Given the description of an element on the screen output the (x, y) to click on. 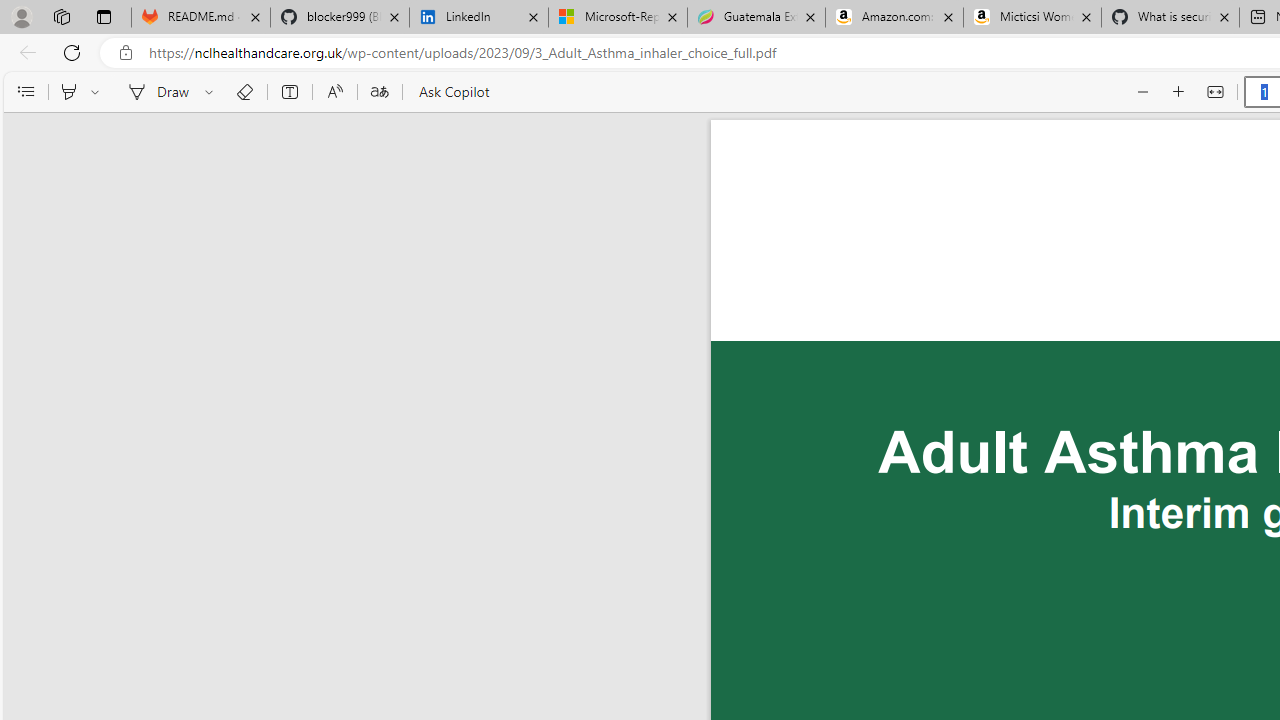
Select ink properties (212, 92)
LinkedIn (478, 17)
Draw (155, 92)
Add text (289, 92)
Translate (379, 92)
Zoom in (Ctrl+Plus key) (1179, 92)
